Given the description of an element on the screen output the (x, y) to click on. 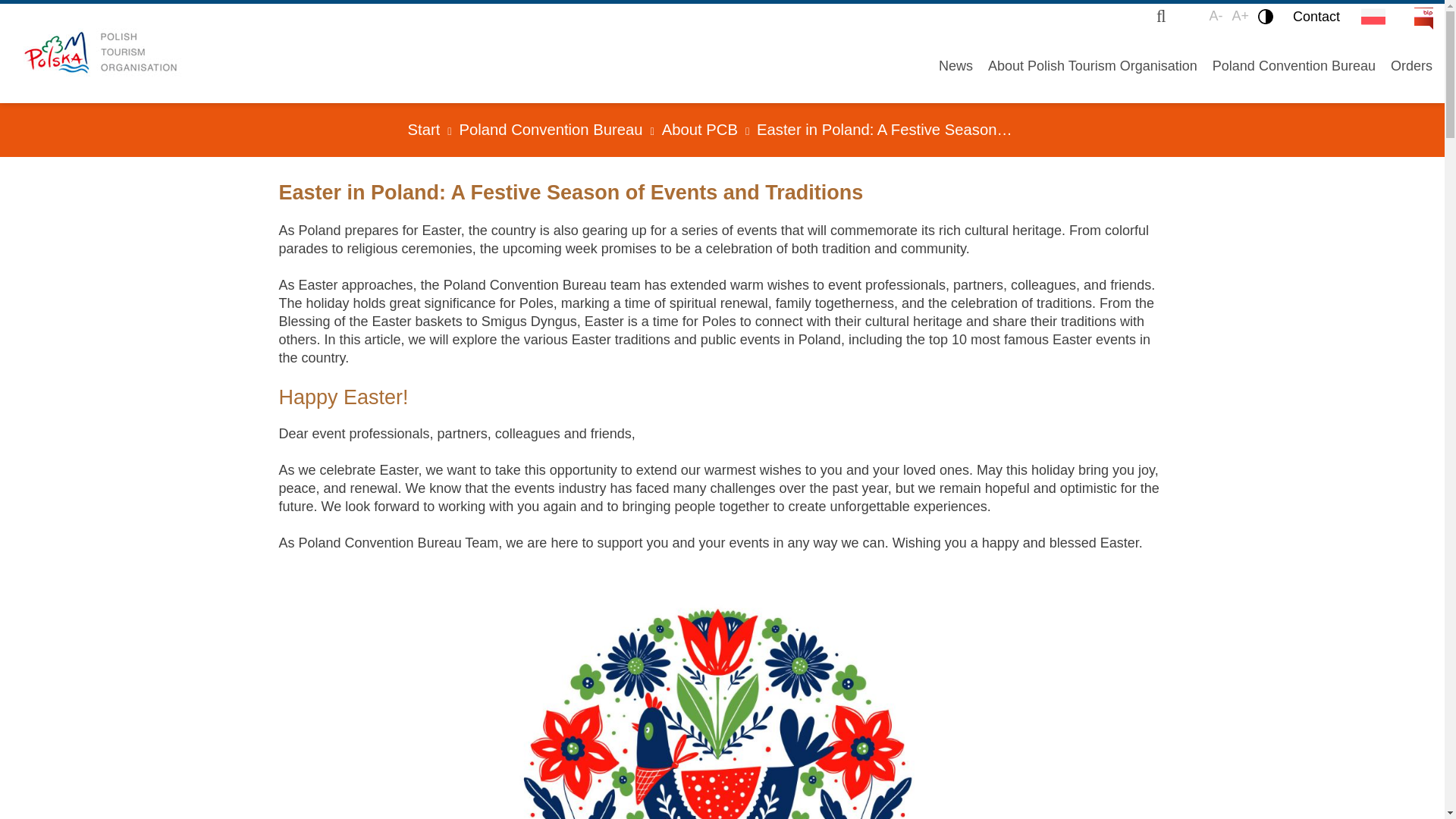
About Polish Tourism Organisation (1092, 64)
Contact (1315, 16)
link open in new tab (1413, 9)
Poland Convention Bureau (1294, 64)
A- (1215, 16)
Contact form (1315, 16)
